Given the description of an element on the screen output the (x, y) to click on. 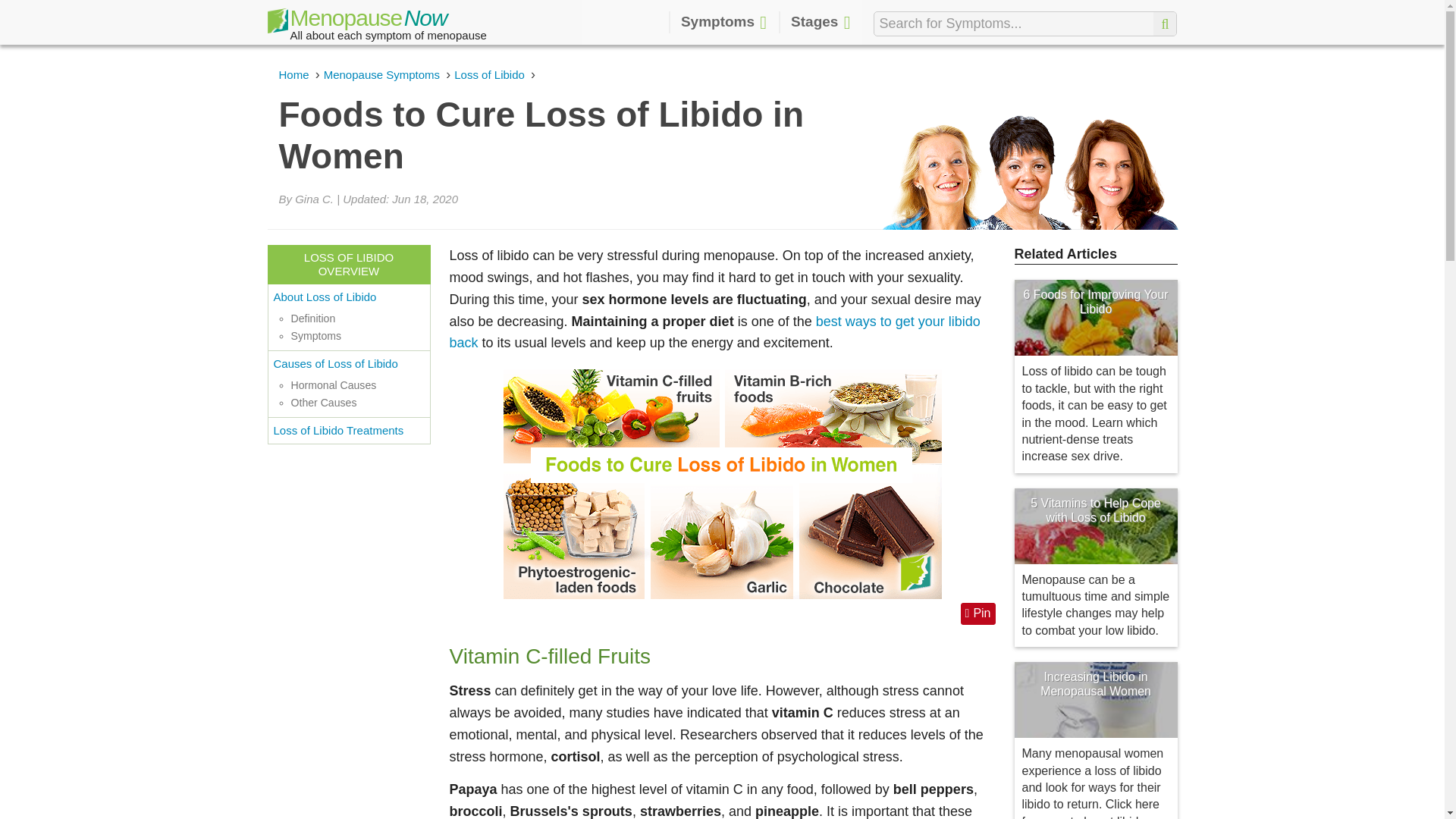
Symptoms (723, 22)
s (1164, 24)
Pin (977, 613)
Menopause Now (356, 24)
